Given the description of an element on the screen output the (x, y) to click on. 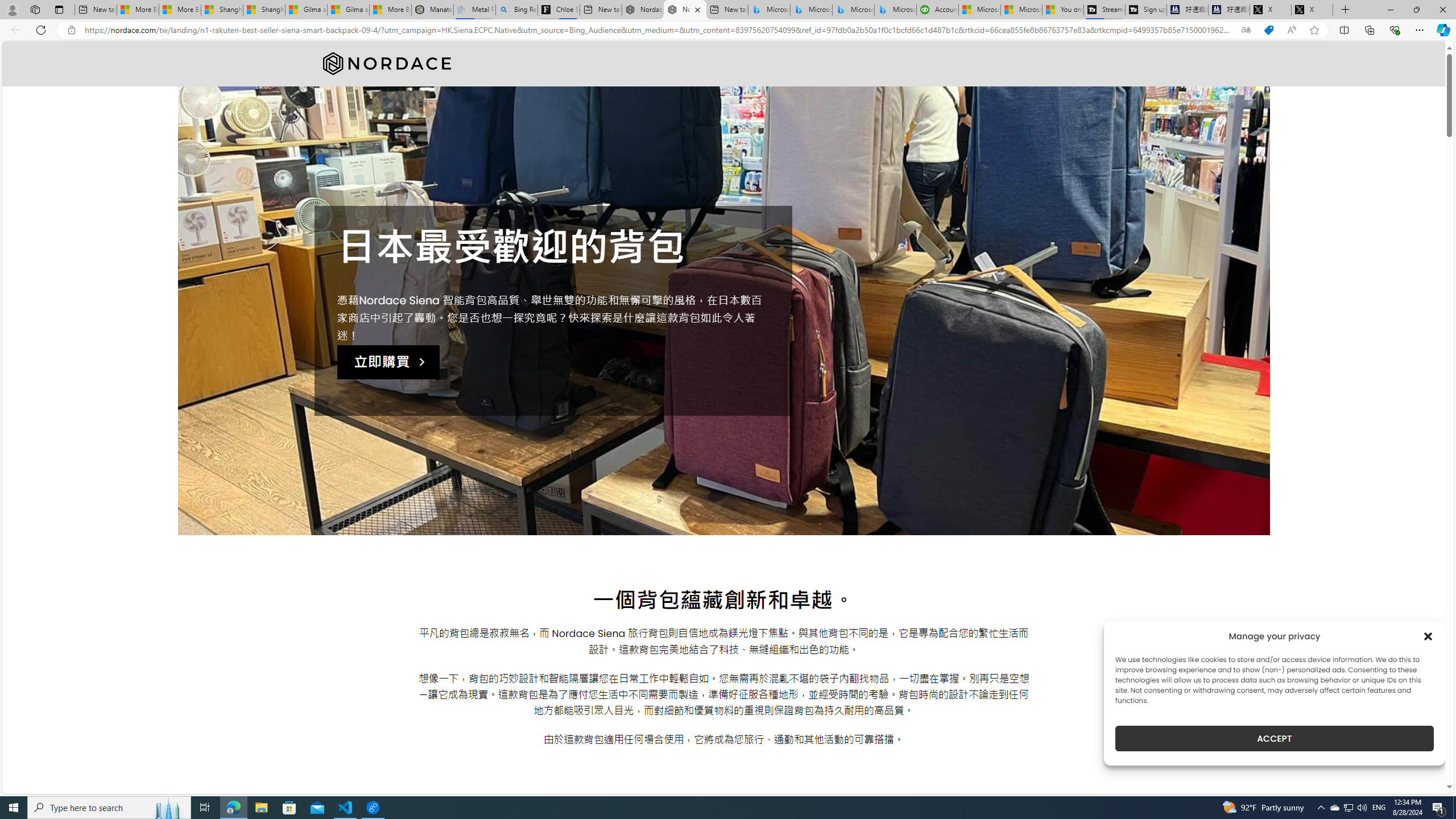
Accounting Software for Accountants, CPAs and Bookkeepers (937, 9)
Back (13, 29)
Nordace - #1 Japanese Best-Seller - Siena Smart Backpack (684, 9)
Tab actions menu (58, 9)
Copilot (Ctrl+Shift+.) (1442, 29)
X (1312, 9)
Manatee Mortality Statistics | FWC (432, 9)
Collections (1369, 29)
Read aloud this page (Ctrl+Shift+U) (1291, 29)
Microsoft Start Sports (979, 9)
View site information (70, 29)
Microsoft Bing Travel - Shangri-La Hotel Bangkok (895, 9)
